Given the description of an element on the screen output the (x, y) to click on. 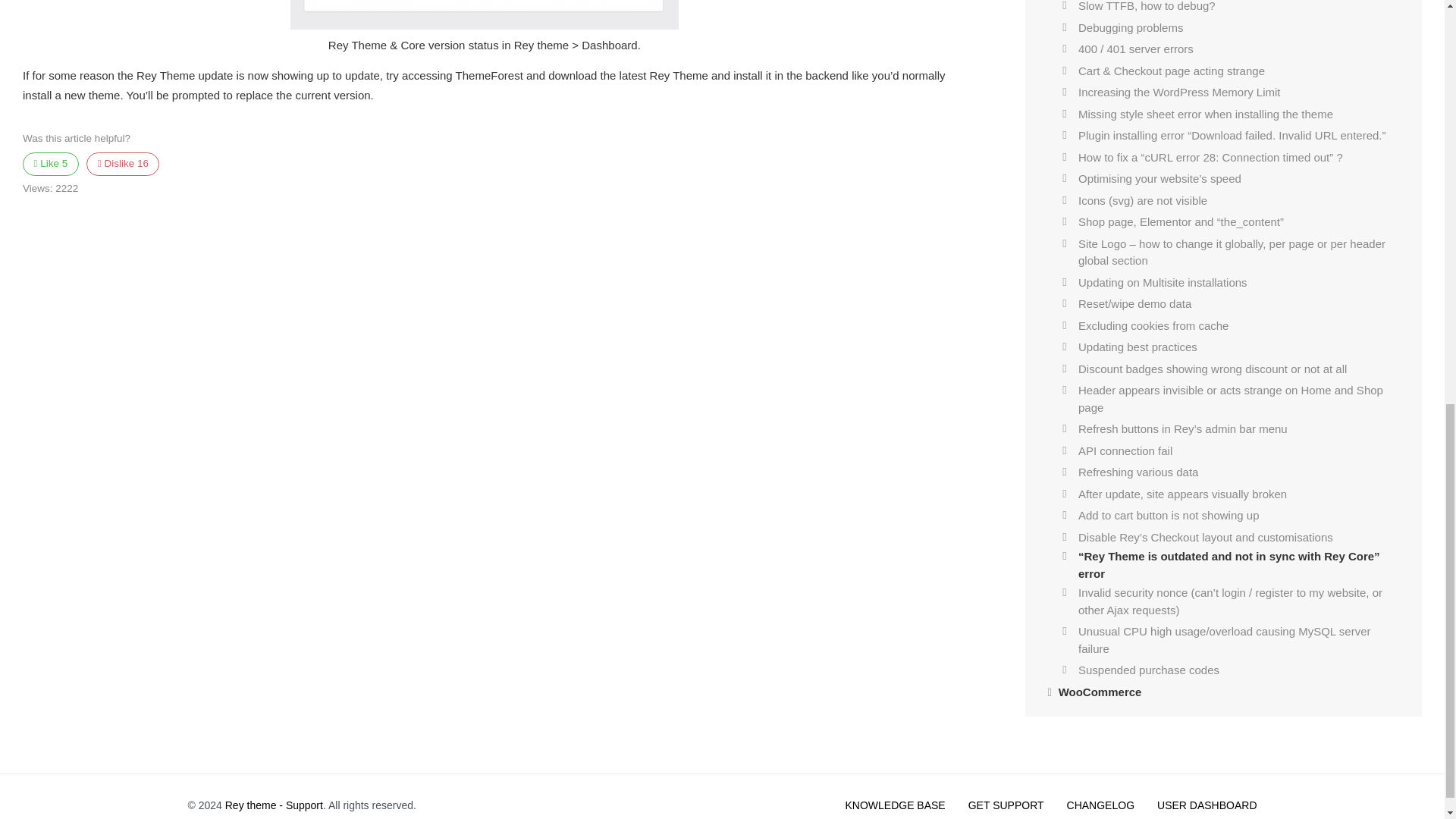
Dislike (121, 163)
Like (50, 163)
Like 5 (50, 163)
Dislike 16 (121, 163)
